Given the description of an element on the screen output the (x, y) to click on. 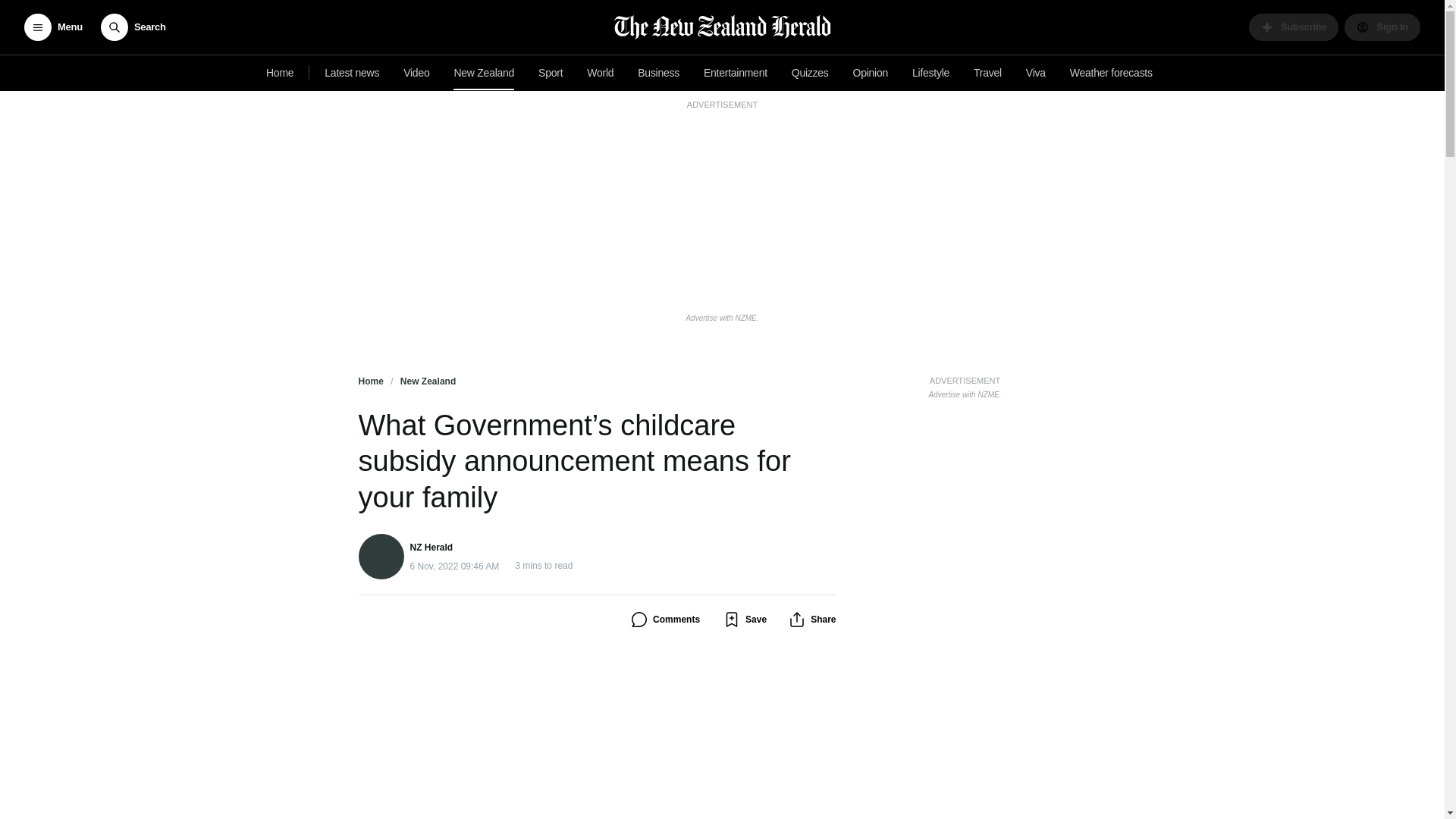
Subscribe (1294, 26)
Lifestyle (930, 72)
Weather forecasts (1111, 72)
Business (964, 384)
World (658, 72)
Latest news (600, 72)
Viva (351, 72)
Search (1035, 72)
Sport (132, 26)
Quizzes (550, 72)
Home (810, 72)
Opinion (279, 72)
Manage your account (870, 72)
Video (1382, 26)
